Given the description of an element on the screen output the (x, y) to click on. 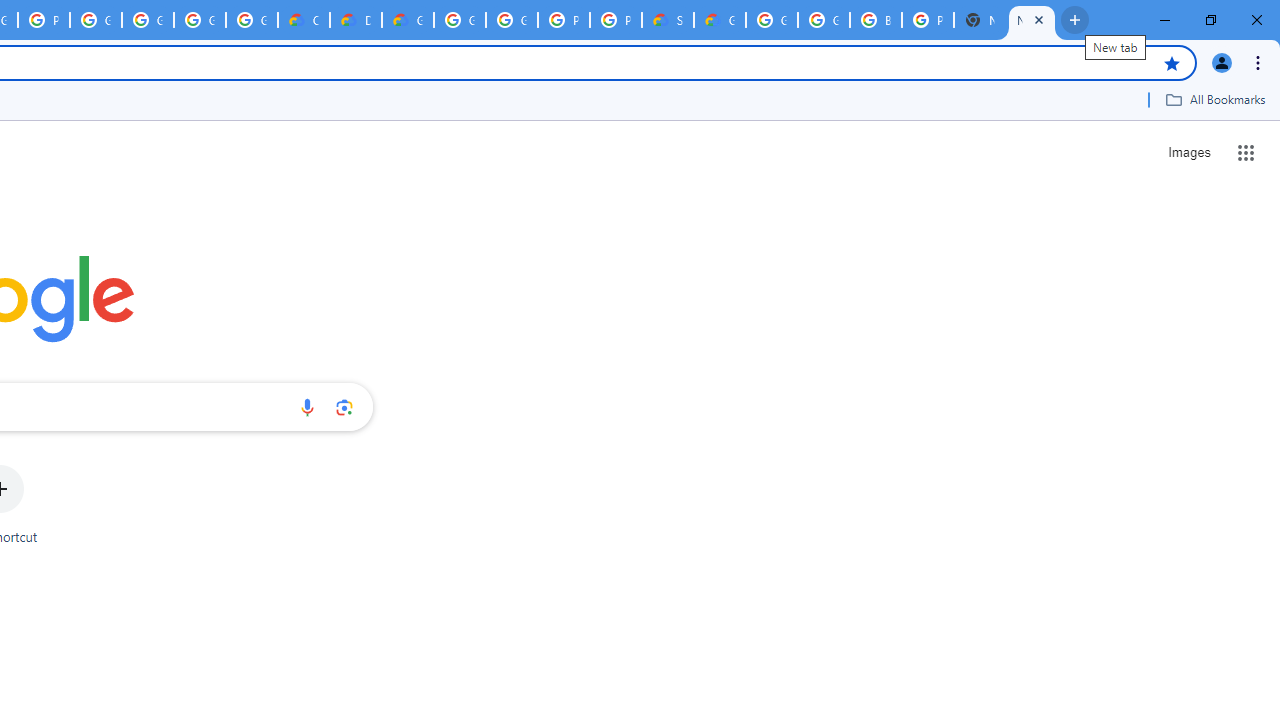
Search for Images  (1188, 152)
Gemini for Business and Developers | Google Cloud (407, 20)
Google Workspace - Specific Terms (251, 20)
Support Hub | Google Cloud (667, 20)
All Bookmarks (1215, 99)
Search by voice (307, 407)
Search by image (344, 407)
New Tab (1032, 20)
Google Cloud Platform (511, 20)
